Given the description of an element on the screen output the (x, y) to click on. 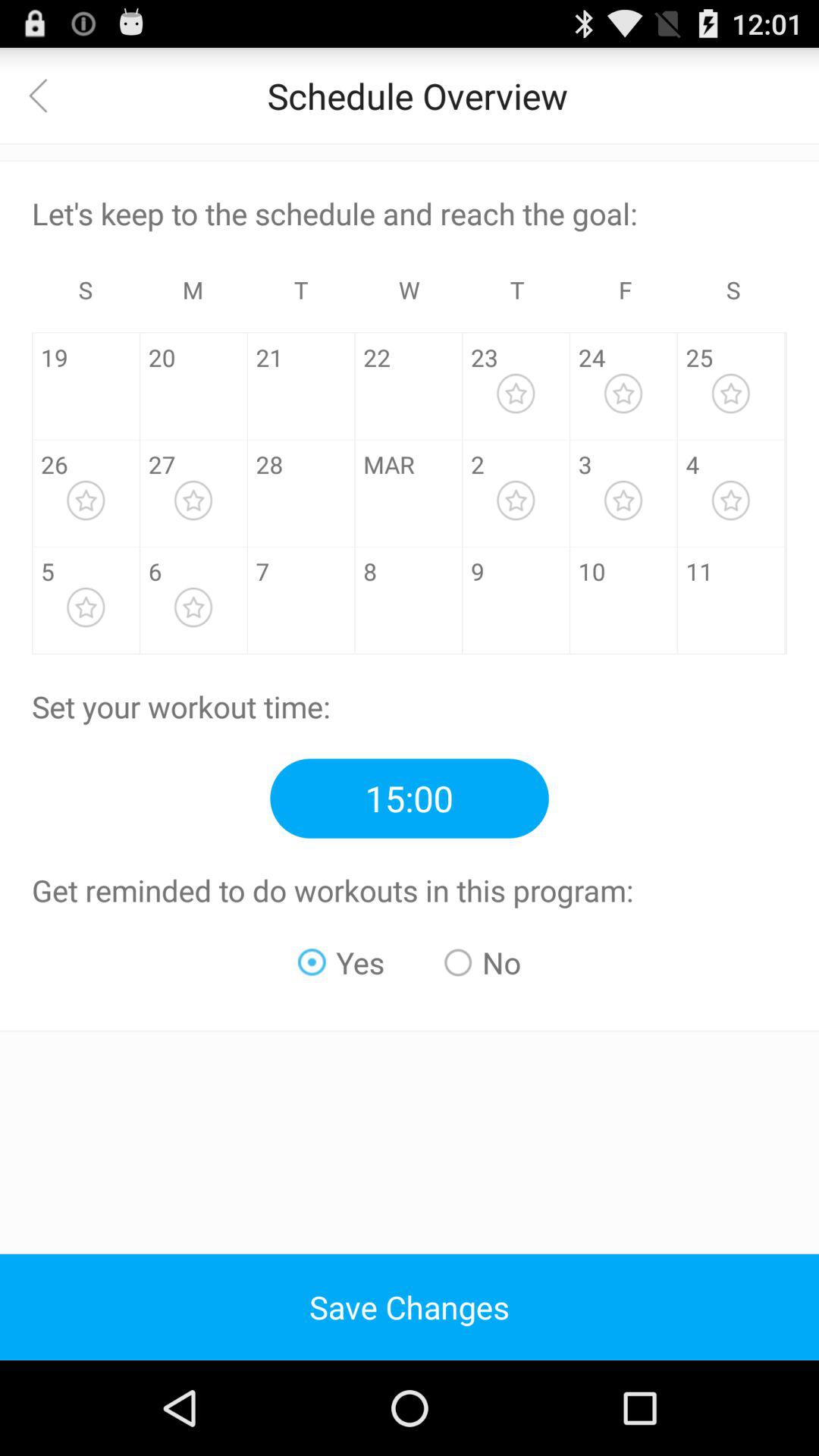
return to the previous view (47, 95)
